Given the description of an element on the screen output the (x, y) to click on. 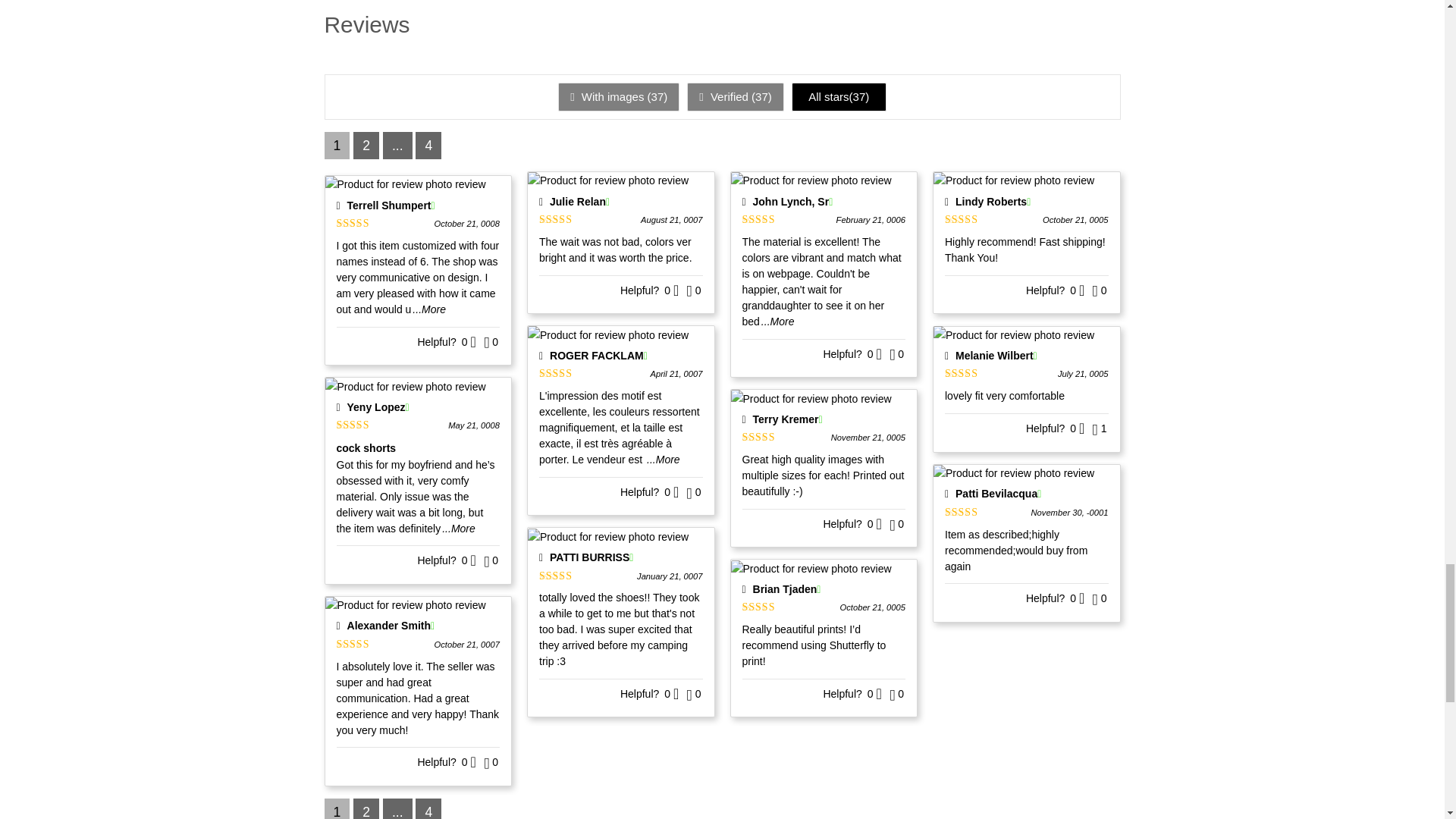
Read more (428, 309)
Read more (459, 528)
cock shorts (418, 447)
Read more (778, 321)
Read more (663, 459)
